Given the description of an element on the screen output the (x, y) to click on. 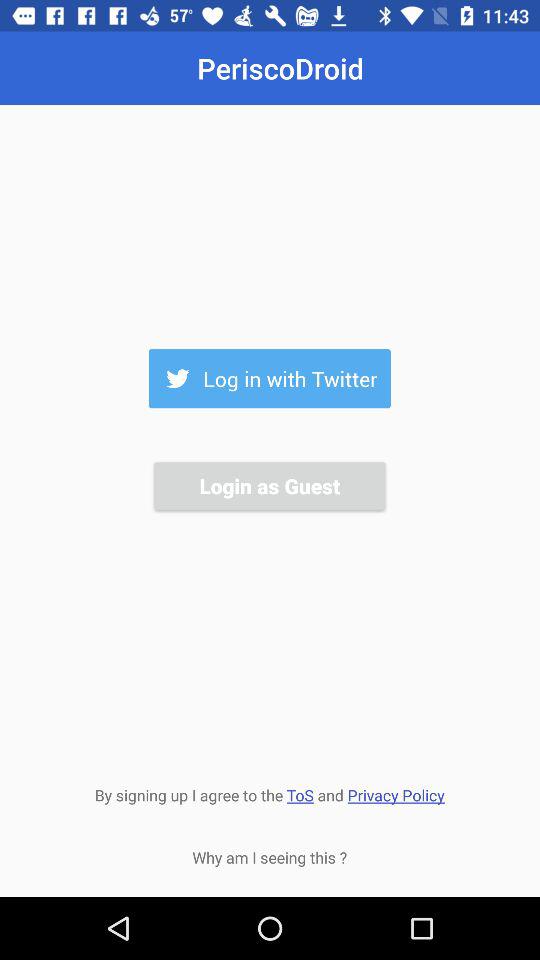
select login as guest icon (269, 485)
